Given the description of an element on the screen output the (x, y) to click on. 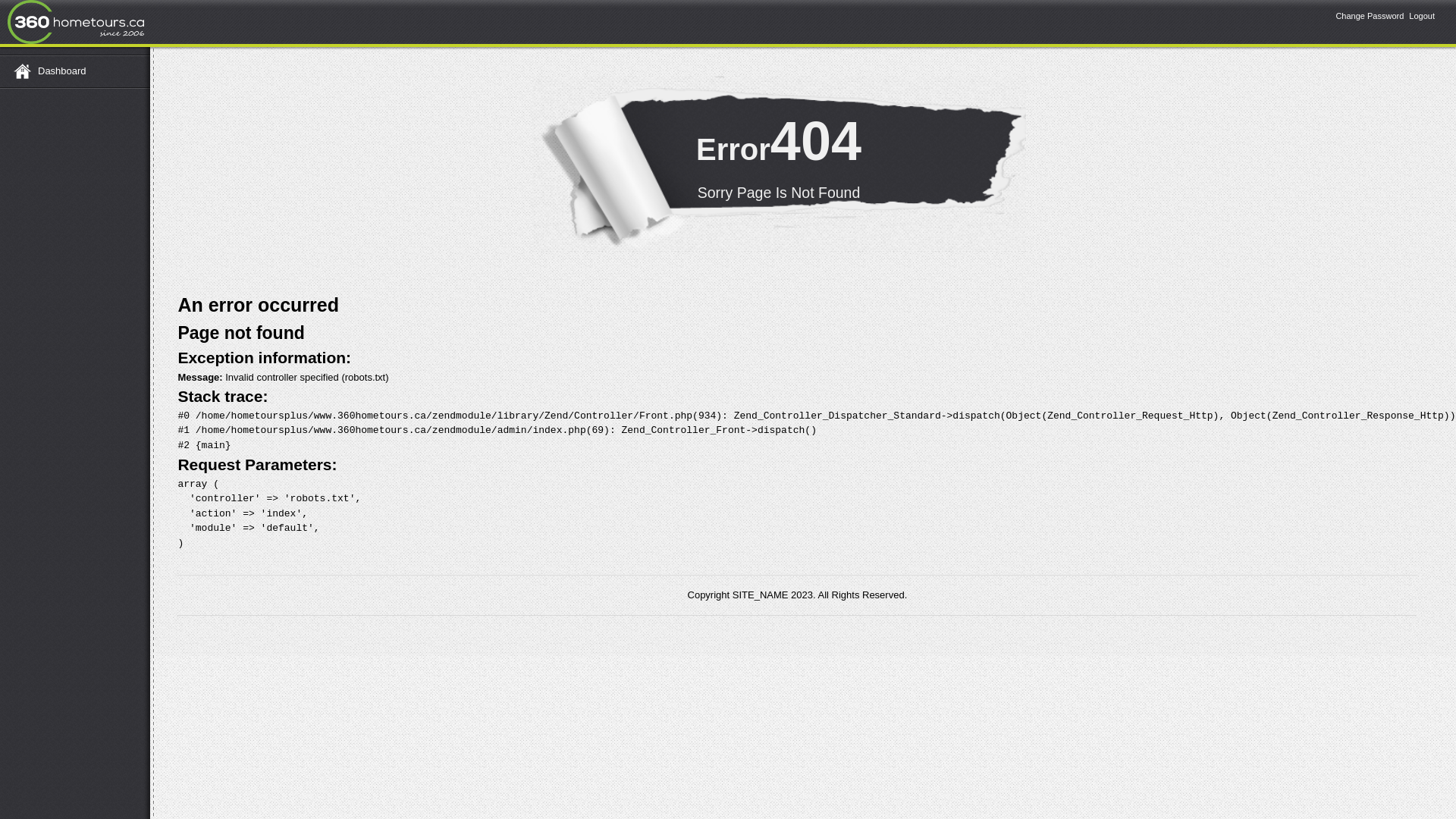
Logout Element type: text (1421, 15)
Change Password Element type: text (1369, 15)
Dashboard Element type: text (72, 71)
